Given the description of an element on the screen output the (x, y) to click on. 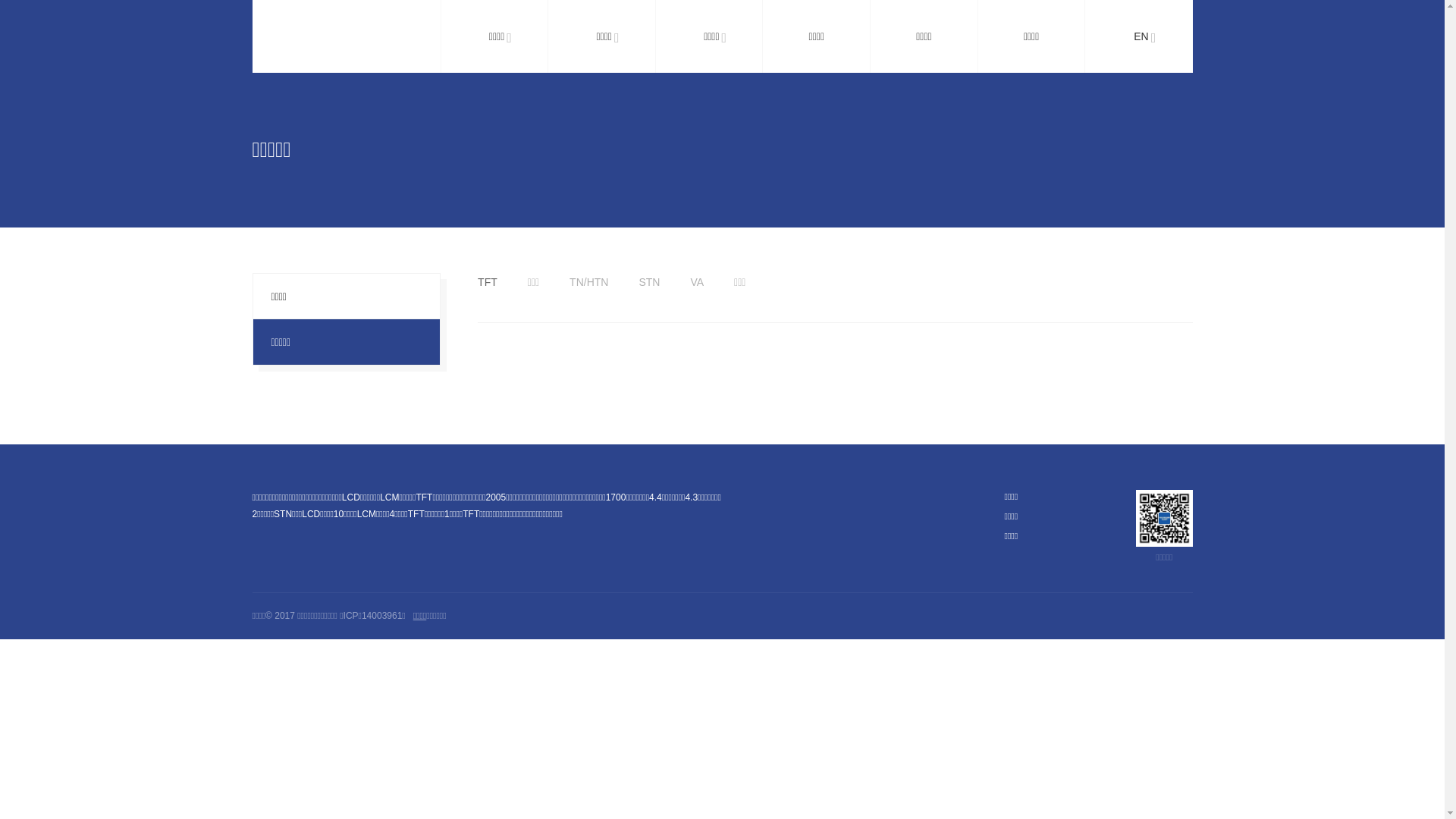
STN Element type: text (648, 282)
TN/HTN Element type: text (588, 282)
TFT Element type: text (487, 282)
VA Element type: text (696, 282)
